Given the description of an element on the screen output the (x, y) to click on. 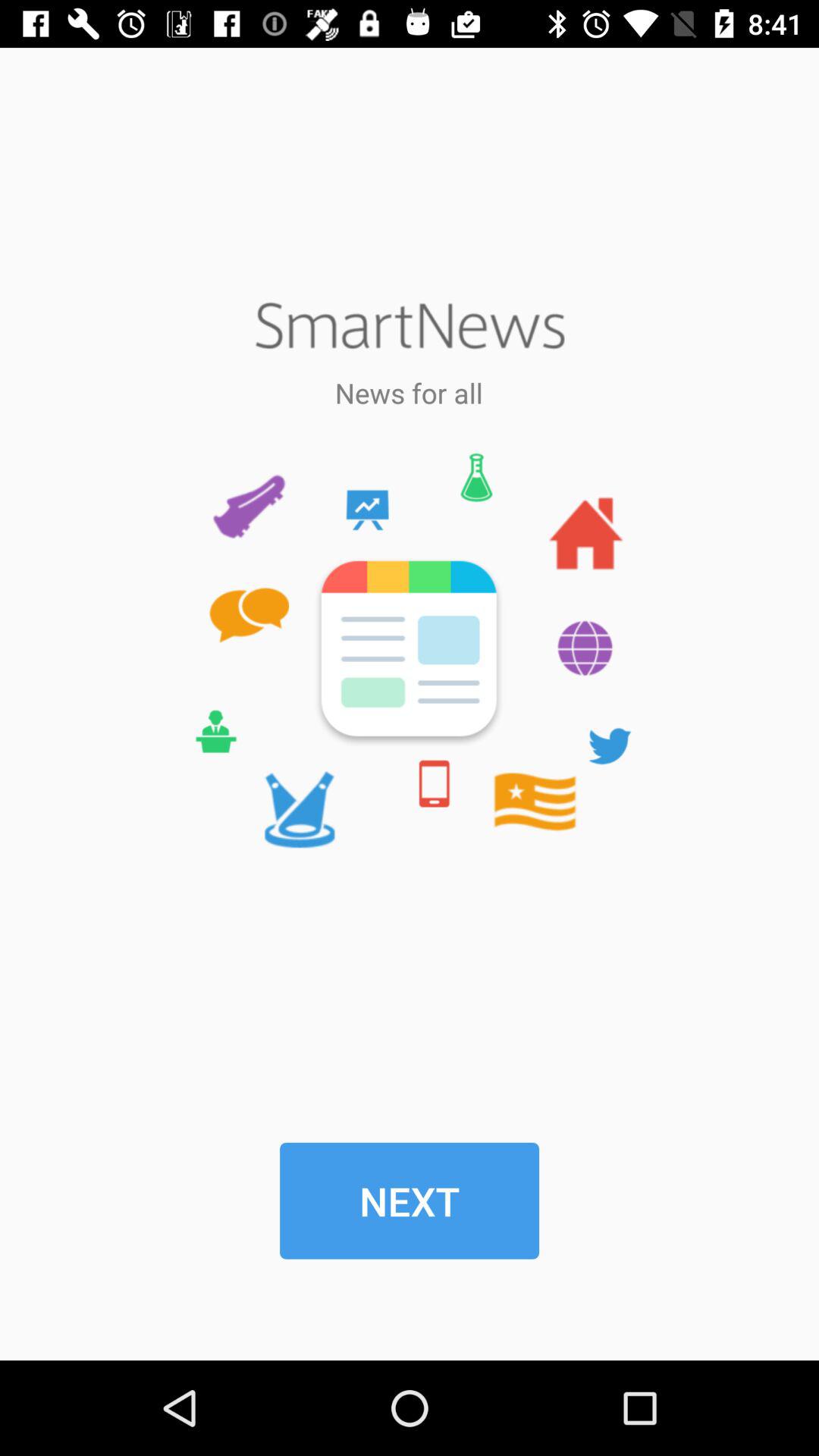
select the center icon (408, 649)
